Given the description of an element on the screen output the (x, y) to click on. 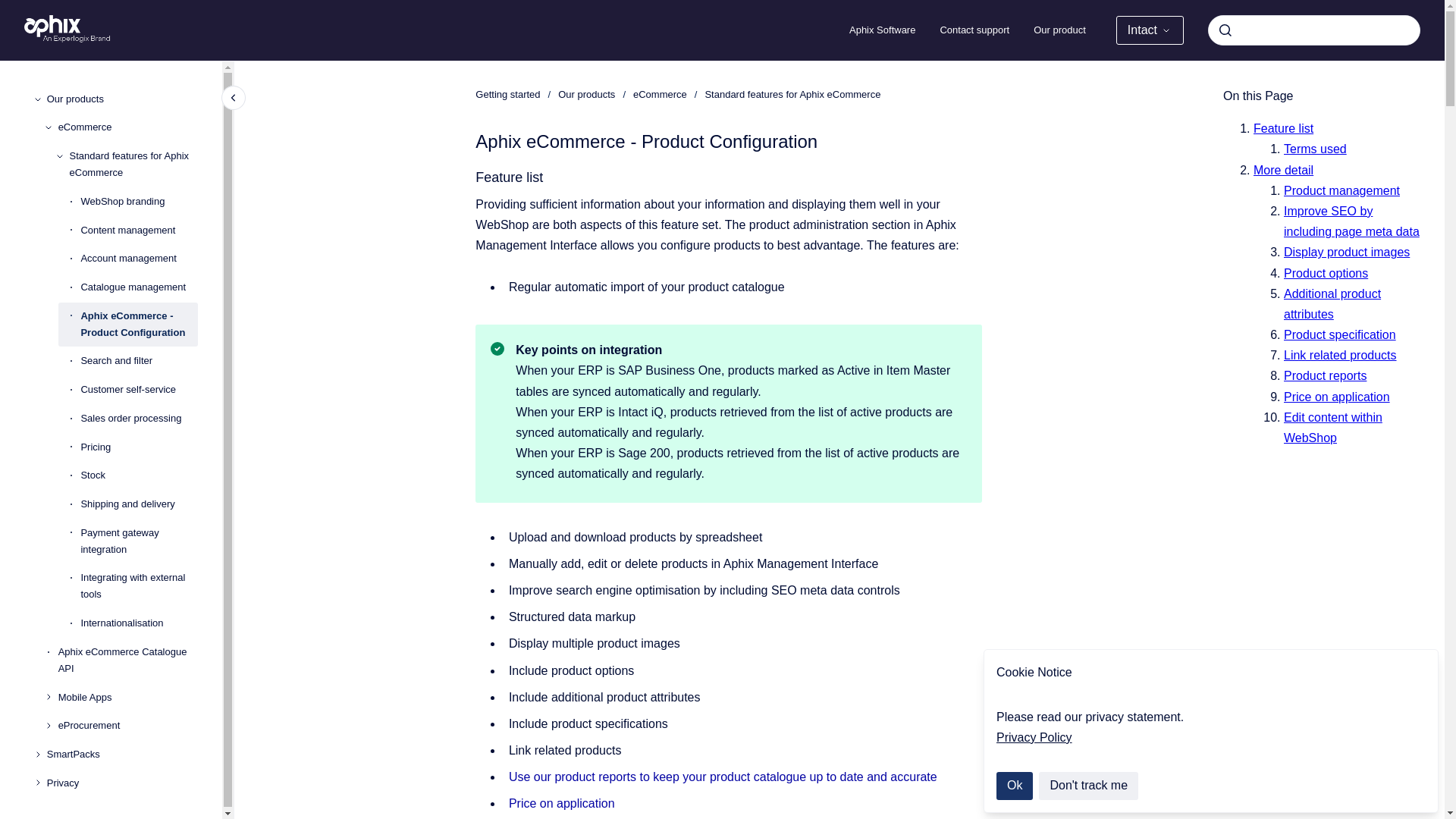
Aphix eCommerce - Product Configuration (139, 324)
Sales order processing (139, 418)
Payment gateway integration (139, 541)
Catalogue management (139, 287)
Integrating with external tools (139, 587)
Intact (1149, 30)
Aphix eCommerce Catalogue API (128, 660)
Mobile Apps (128, 697)
Ok (1013, 786)
Pricing (139, 447)
